Given the description of an element on the screen output the (x, y) to click on. 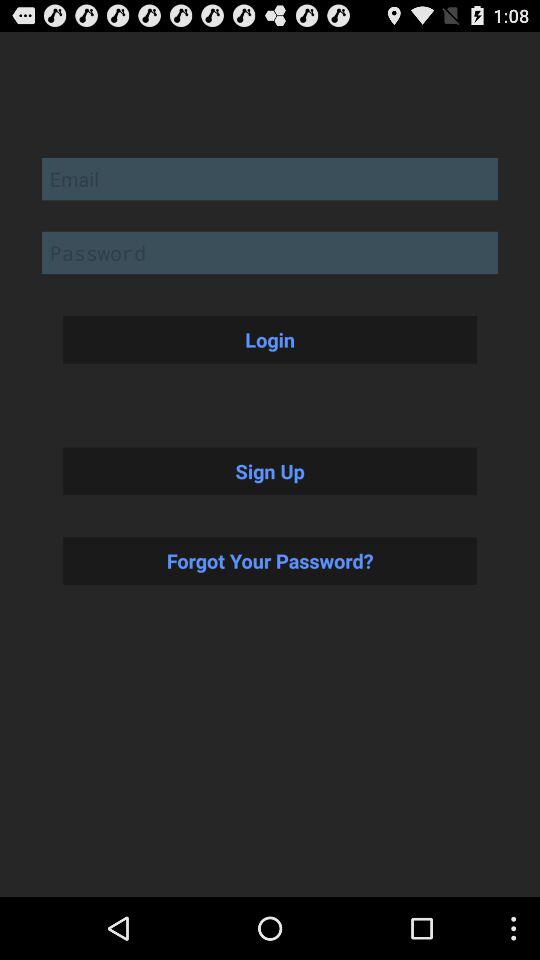
choose the sign up icon (269, 471)
